Given the description of an element on the screen output the (x, y) to click on. 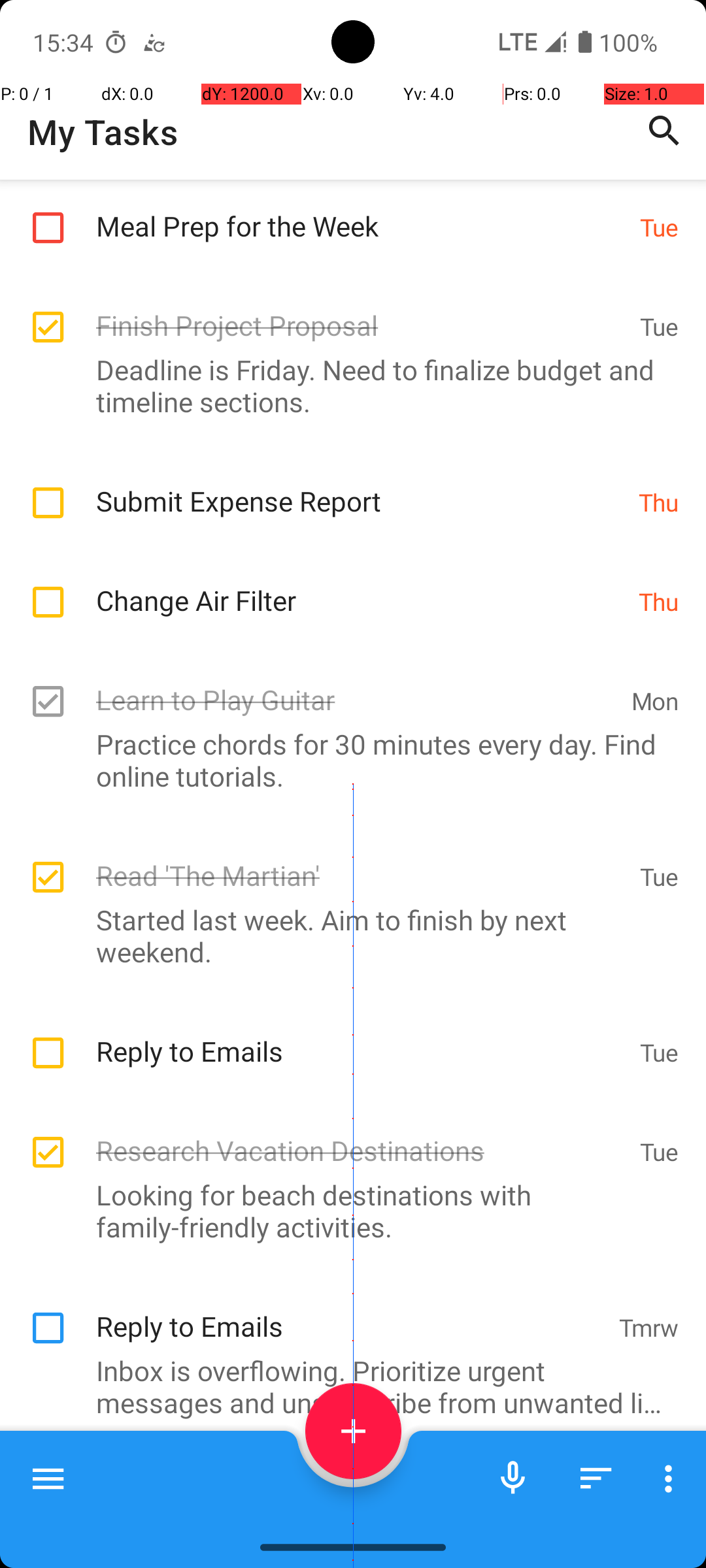
Practice chords for 30 minutes every day. Find online tutorials. Element type: android.widget.TextView (346, 759)
Looking for beach destinations with family-friendly activities. Element type: android.widget.TextView (346, 1210)
